Given the description of an element on the screen output the (x, y) to click on. 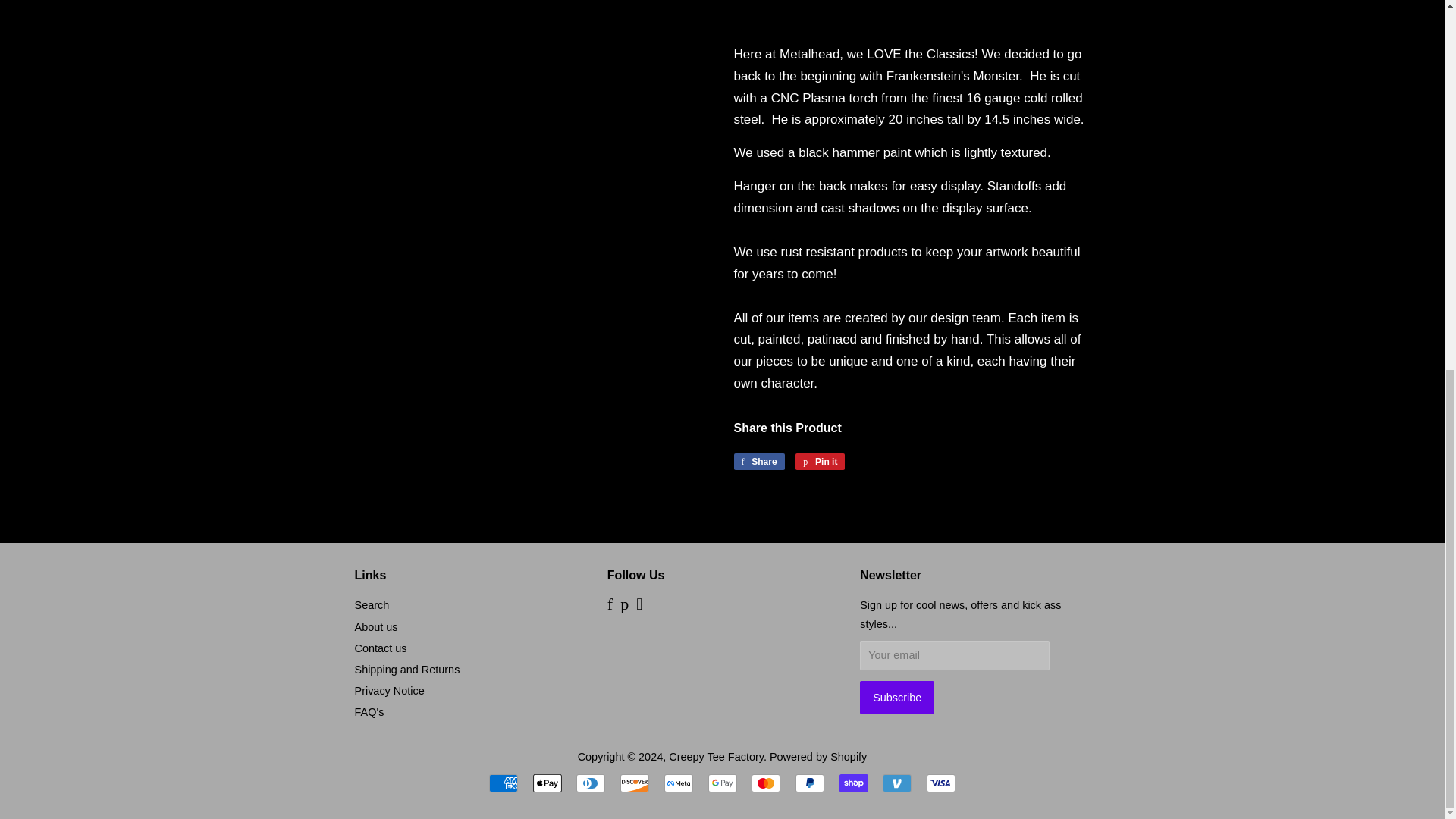
Meta Pay (678, 782)
American Express (503, 782)
Creepy Tee Factory on Facebook (609, 605)
Google Pay (721, 782)
Pin on Pinterest (819, 461)
Subscribe (897, 697)
Creepy Tee Factory on Instagram (639, 605)
PayPal (809, 782)
Apple Pay (547, 782)
Discover (634, 782)
Diners Club (590, 782)
Shop Pay (853, 782)
Mastercard (765, 782)
Creepy Tee Factory on Pinterest (624, 605)
Share on Facebook (758, 461)
